Given the description of an element on the screen output the (x, y) to click on. 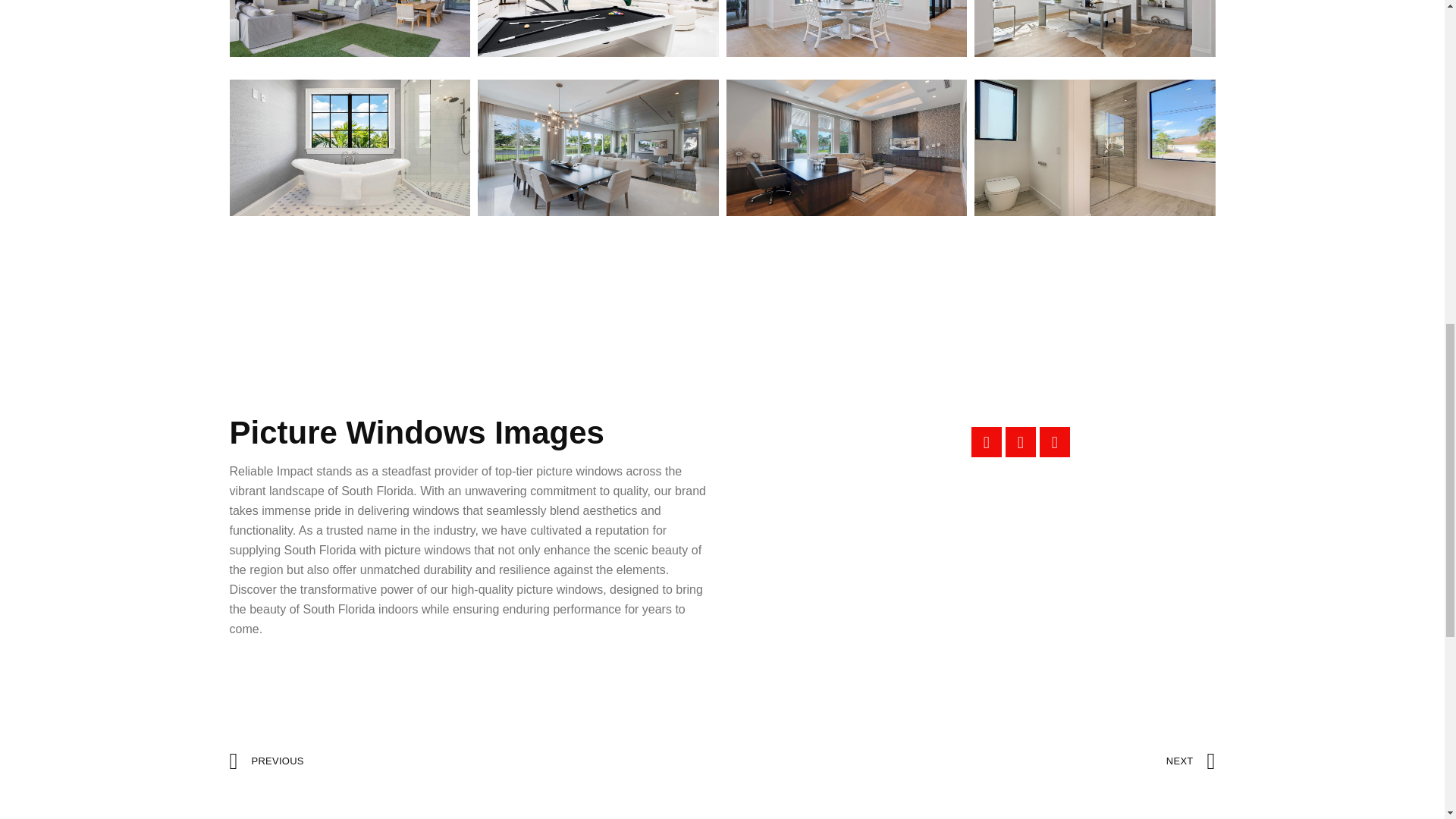
Picture Windows custom glass in South Florida (349, 307)
Picture Windows custom glass in South Florida-o (598, 147)
Picture Windows custom glass in South Florida (846, 28)
Picture Windows custom glass in South Florida (598, 307)
Picture Windows custom glass in South Florida (349, 147)
Picture Windows custom glass in South Florida (349, 28)
Picture Windows custom glass in South Florida (1095, 147)
Picture Windows custom glass in South Florida (598, 28)
Picture Windows custom glass in South Florida-o (846, 147)
Picture Windows custom glass in South Florida (1095, 28)
